Given the description of an element on the screen output the (x, y) to click on. 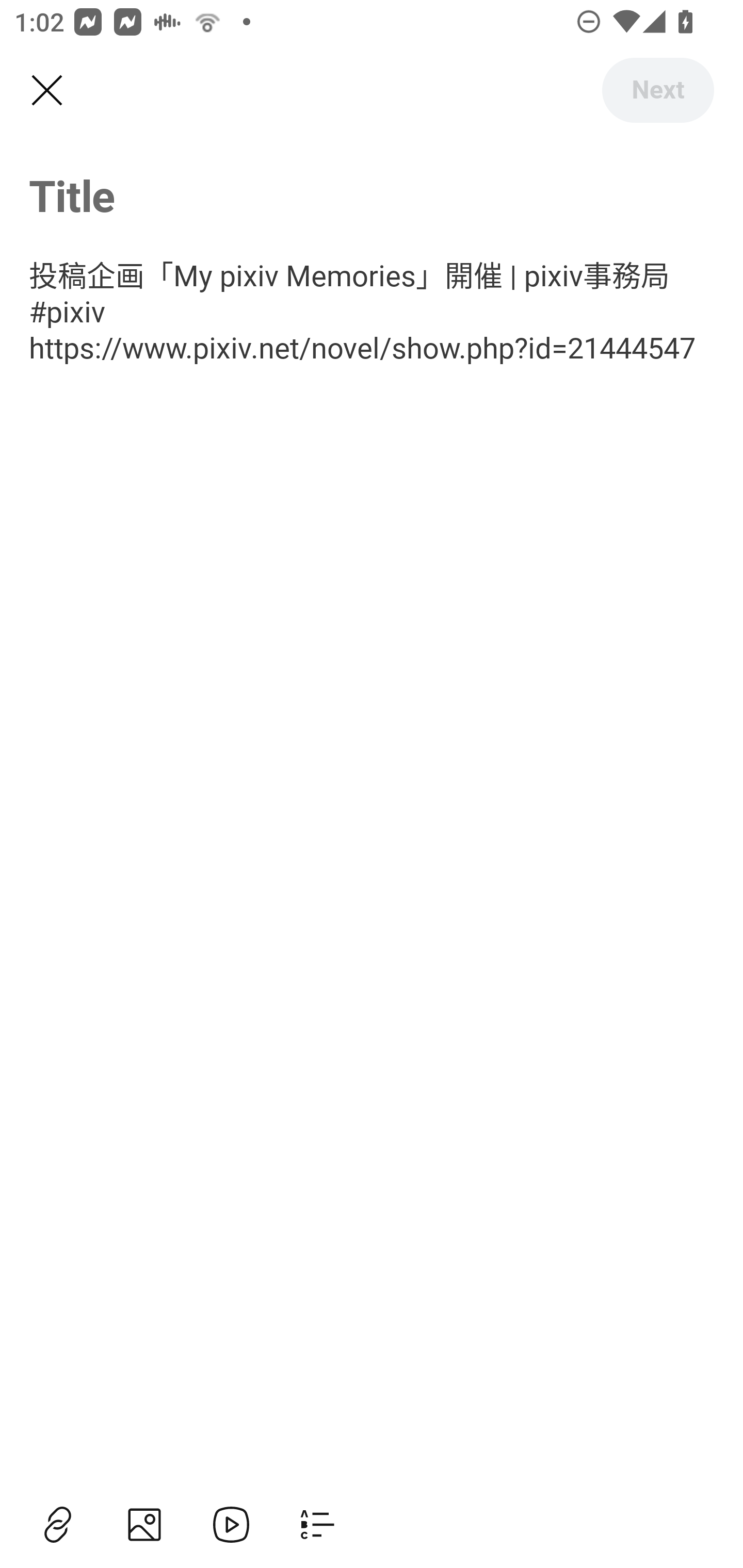
Close (46, 90)
Next (657, 90)
Post title (371, 195)
